Given the description of an element on the screen output the (x, y) to click on. 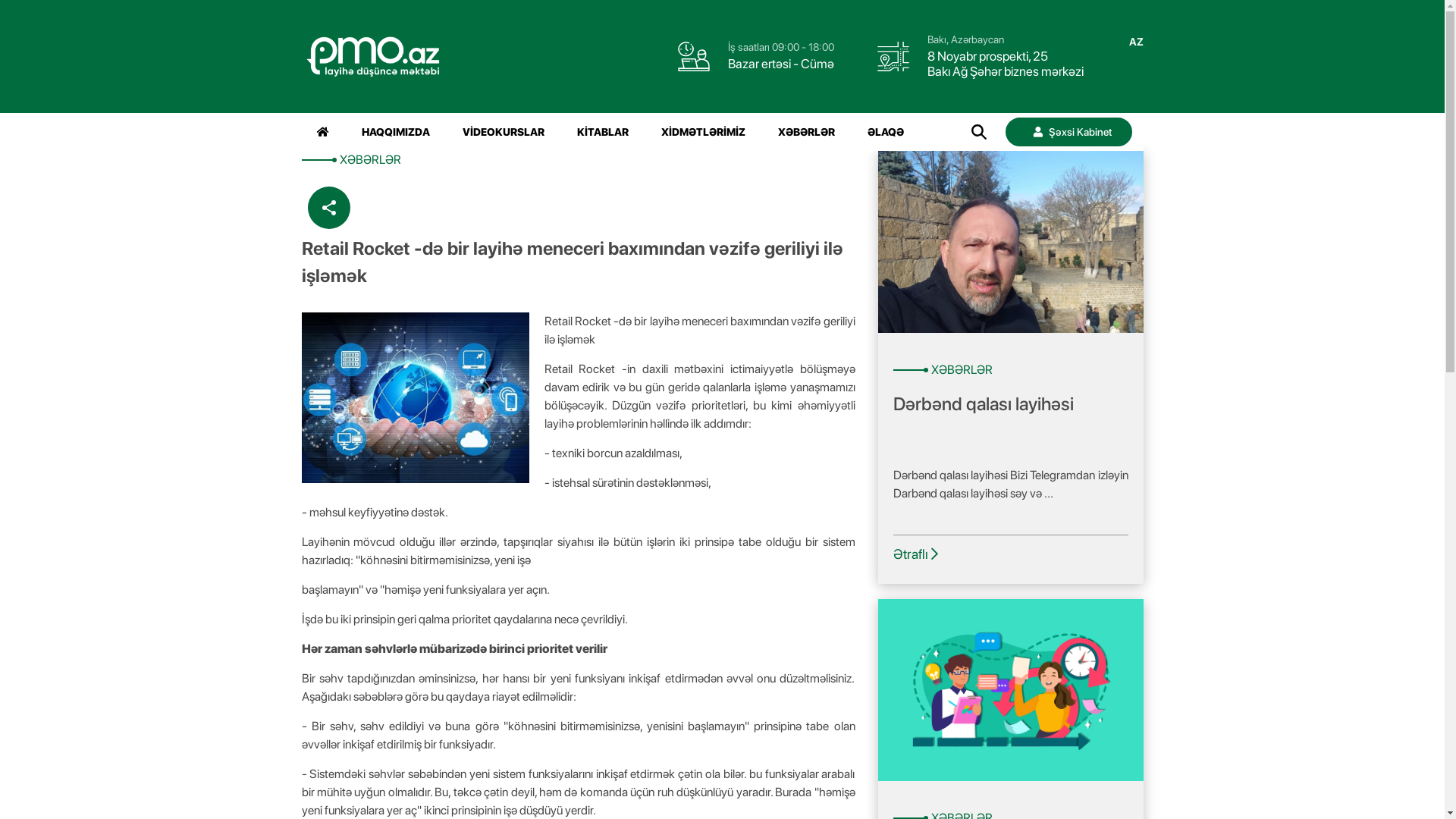
AZ Element type: text (1135, 41)
HAQQIMIZDA Element type: text (394, 131)
VIDEOKURSLAR Element type: text (503, 131)
KITABLAR Element type: text (602, 131)
